Given the description of an element on the screen output the (x, y) to click on. 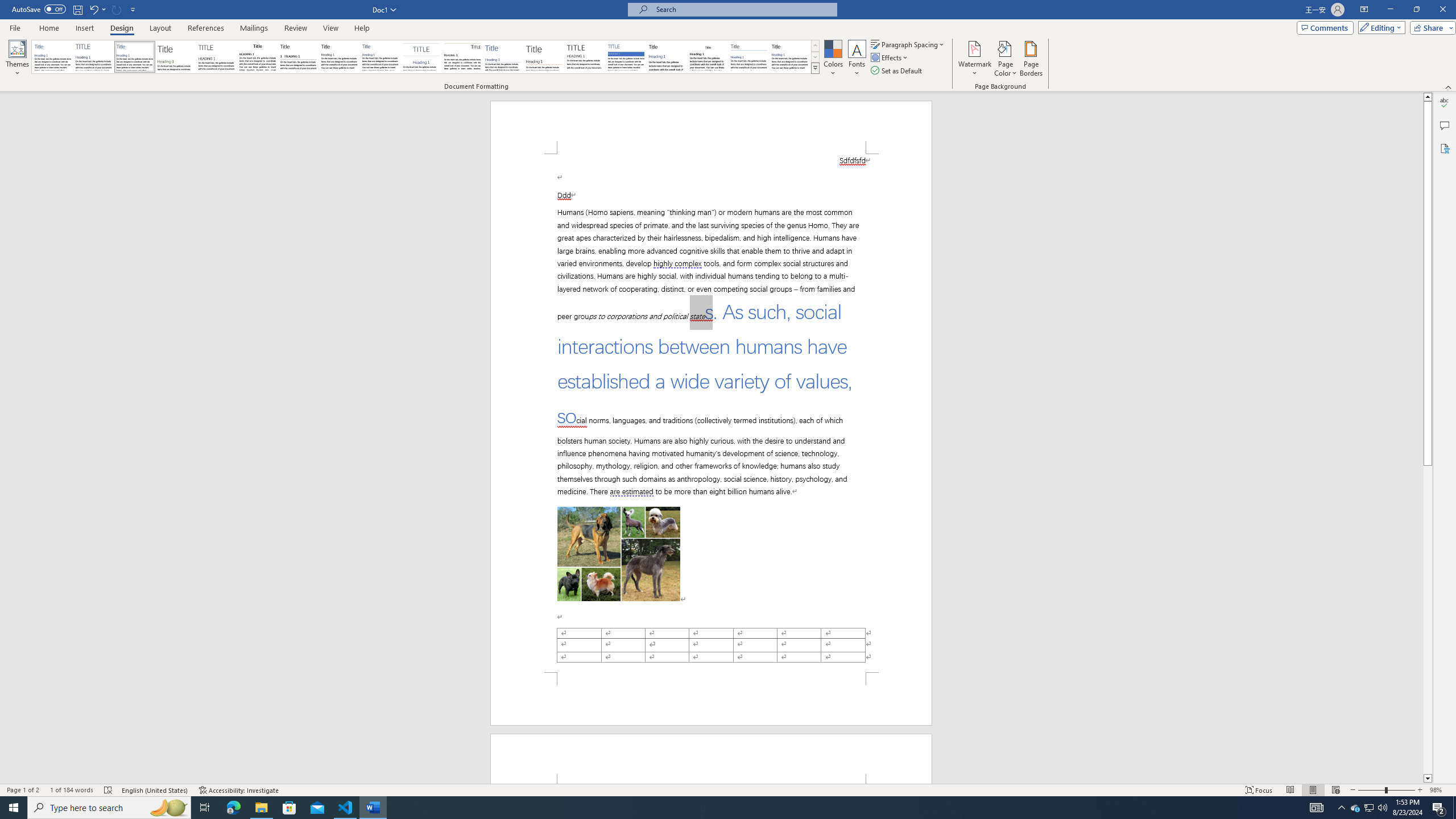
Paragraph Spacing (908, 44)
Black & White (Numbered) (298, 56)
Lines (Distinctive) (462, 56)
Page Borders... (1031, 58)
Page Color (1005, 58)
Style Set (814, 67)
Set as Default (897, 69)
Accessibility (1444, 147)
